Given the description of an element on the screen output the (x, y) to click on. 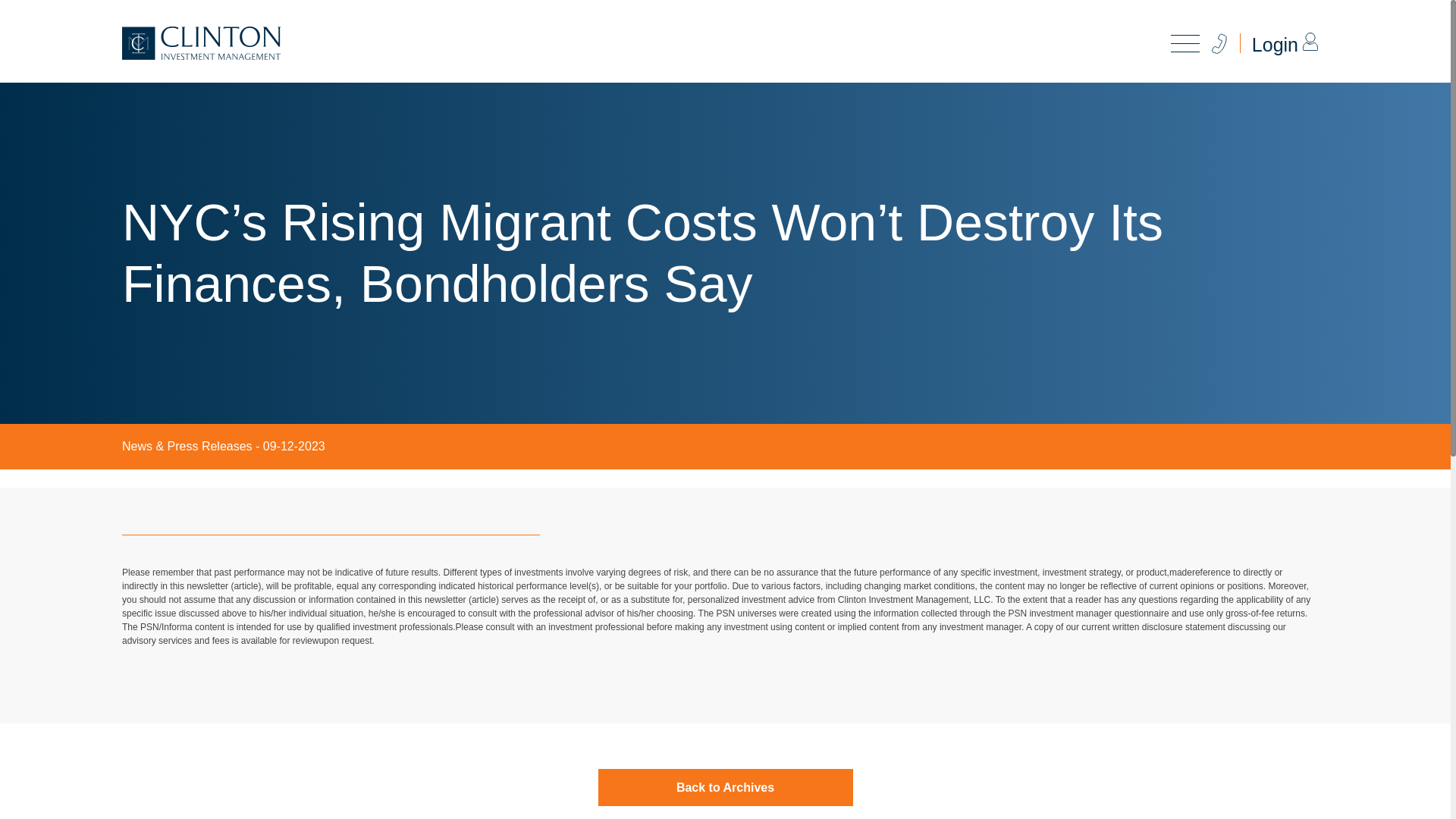
Login (1275, 44)
Back to Archives (723, 787)
Clinton Investment Management (201, 42)
